Given the description of an element on the screen output the (x, y) to click on. 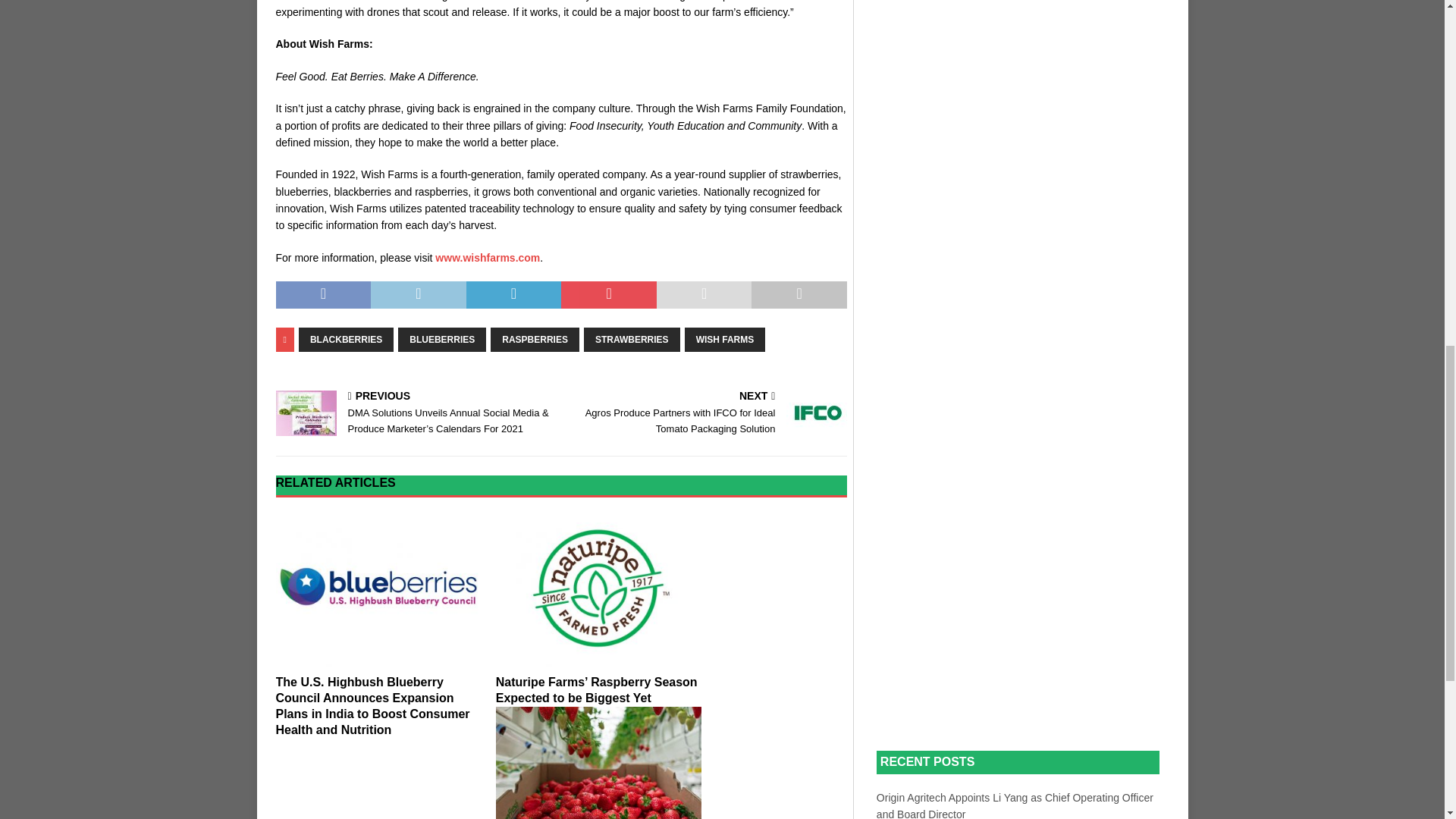
www.wishfarms.com (487, 257)
Nature Fresh Farms Announces Expansion of Strawberry Acreage (598, 762)
